Given the description of an element on the screen output the (x, y) to click on. 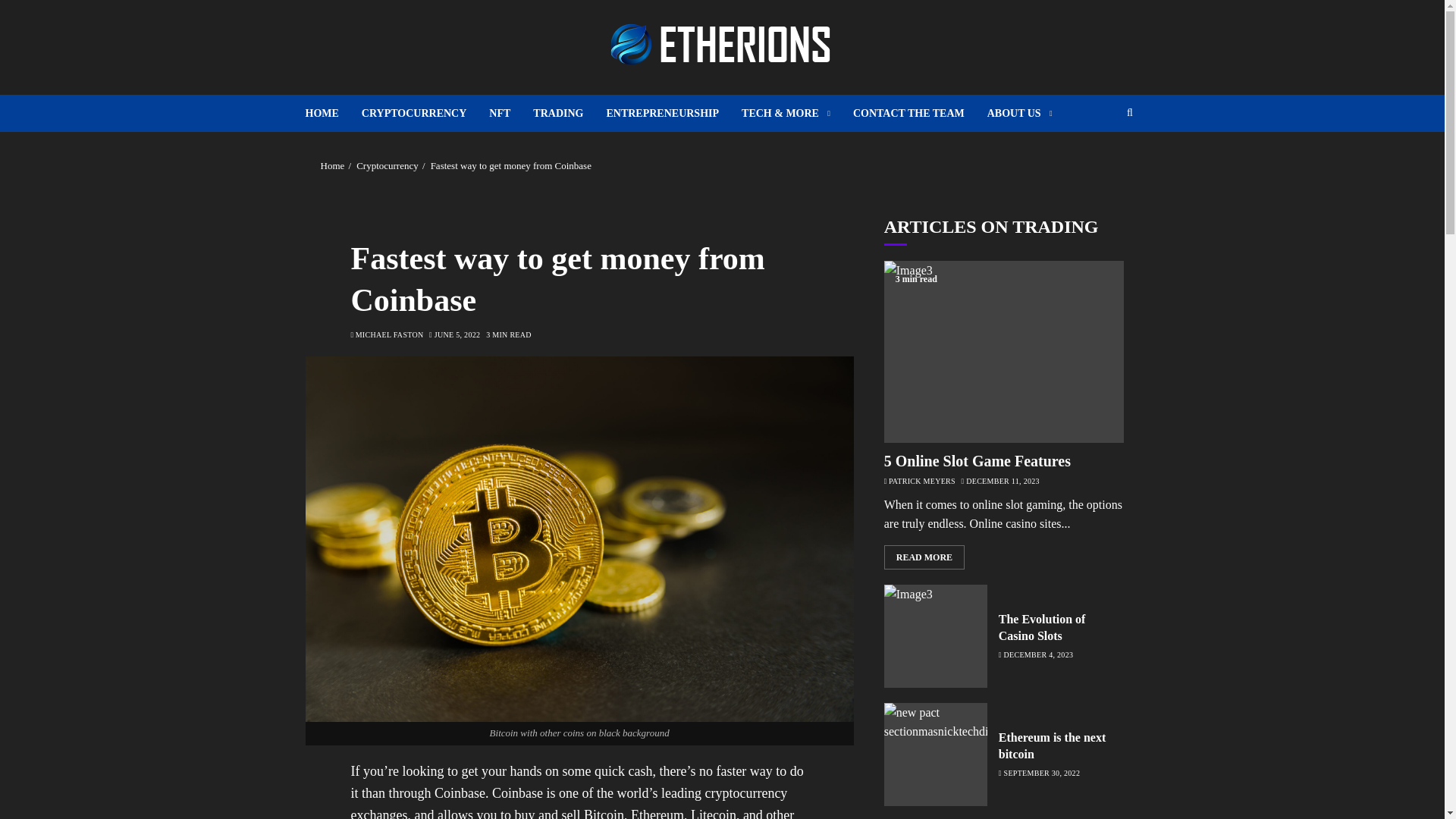
DECEMBER 11, 2023 (1002, 480)
CONTACT THE TEAM (920, 113)
5 Online Slot Game Features (976, 461)
Search (1099, 158)
ABOUT US (1019, 113)
NFT (510, 113)
HOME (332, 113)
PATRICK MEYERS (921, 480)
JUNE 5, 2022 (456, 335)
Cryptocurrency (387, 165)
